Given the description of an element on the screen output the (x, y) to click on. 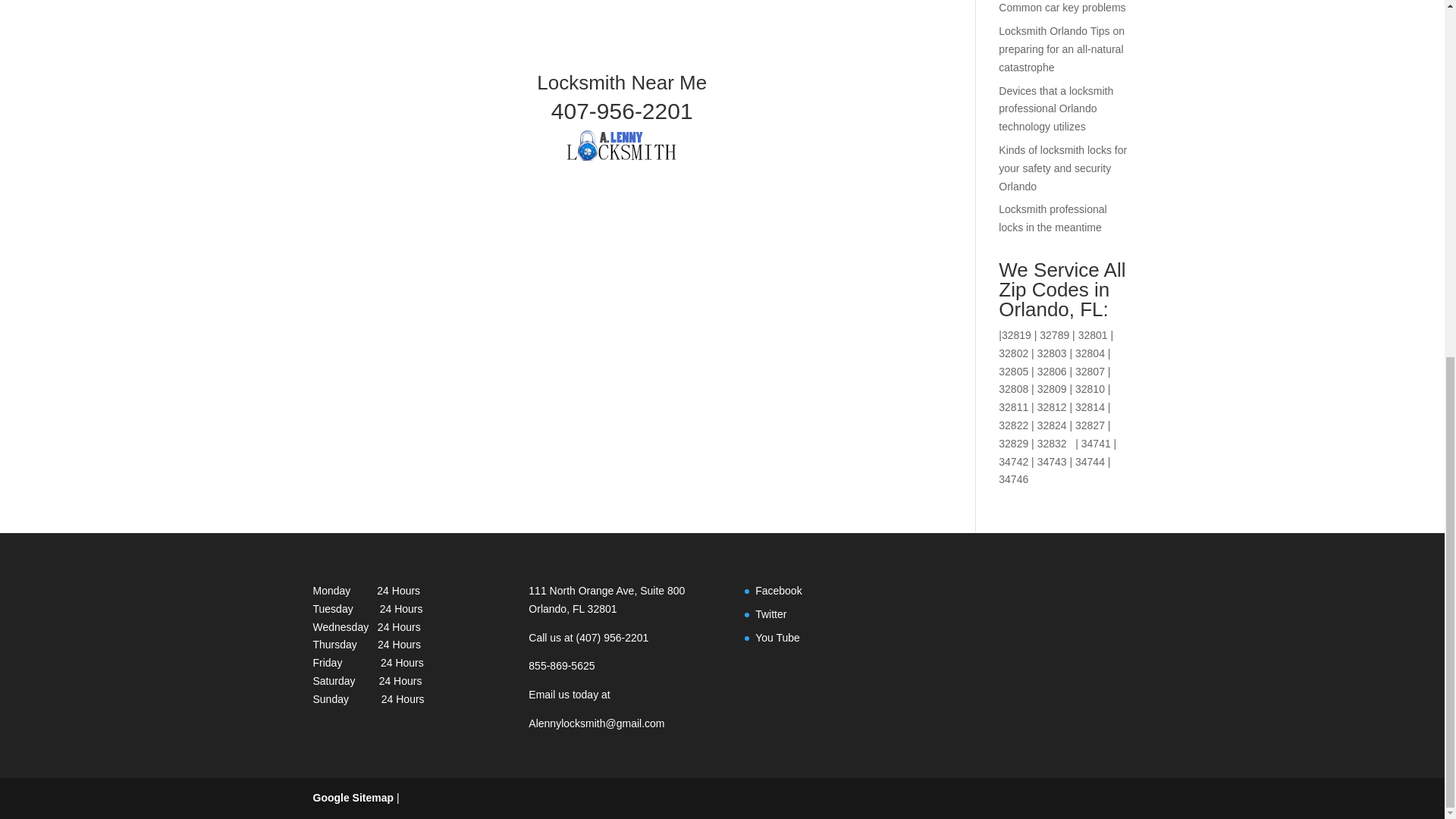
Common car key problems (1061, 7)
Facebook (778, 590)
407-956-2201 (622, 110)
You Tube (777, 637)
Locksmith professional locks in the meantime (1052, 218)
Twitter (770, 613)
Google Sitemap (353, 797)
